Given the description of an element on the screen output the (x, y) to click on. 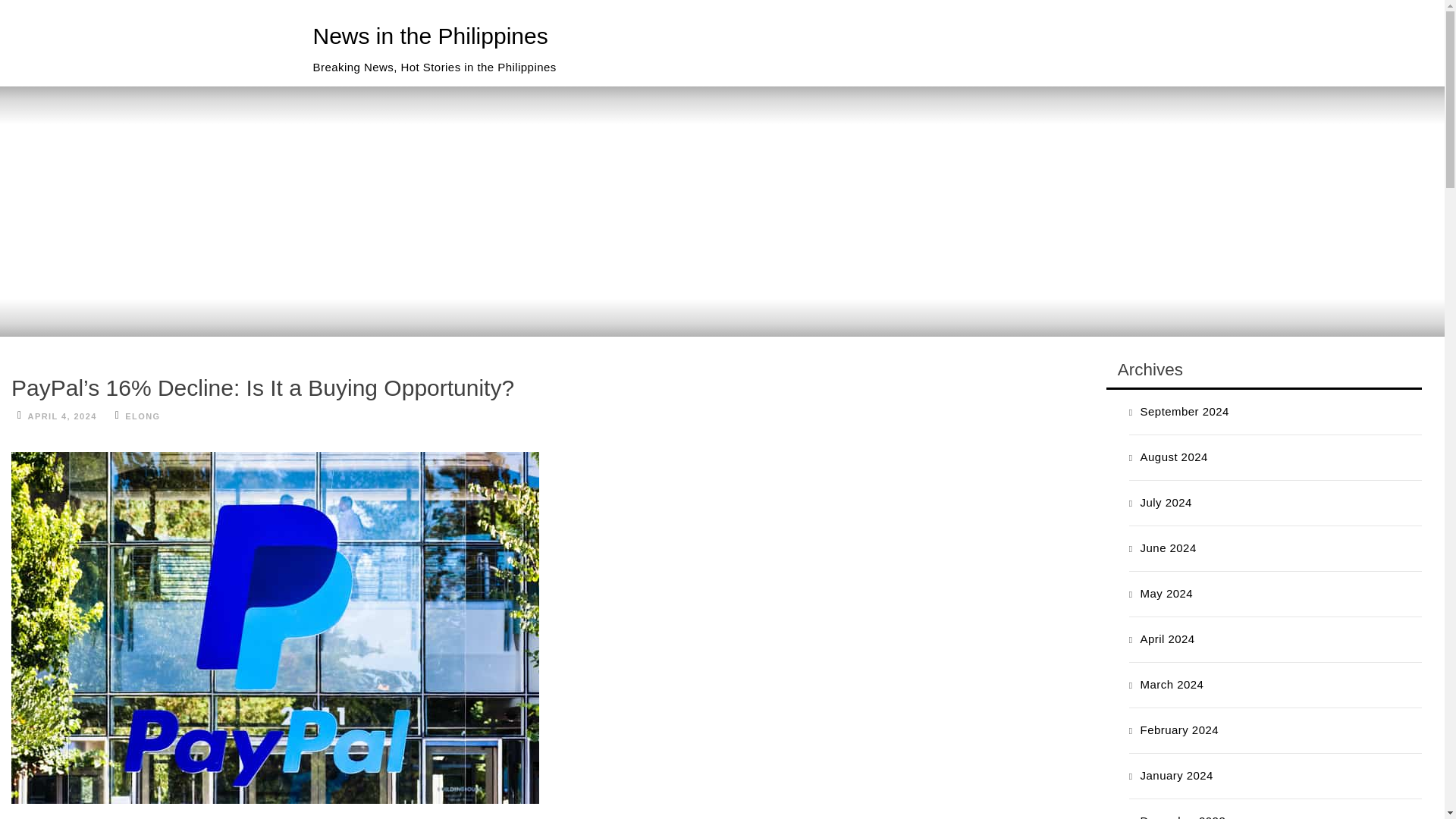
January 2024 (1176, 775)
July 2024 (1166, 502)
September 2024 (1184, 410)
ELONG (142, 416)
April 2024 (1167, 638)
February 2024 (1179, 729)
June 2024 (1168, 547)
December 2023 (1182, 816)
APRIL 4, 2024 (62, 416)
August 2024 (1174, 456)
